Given the description of an element on the screen output the (x, y) to click on. 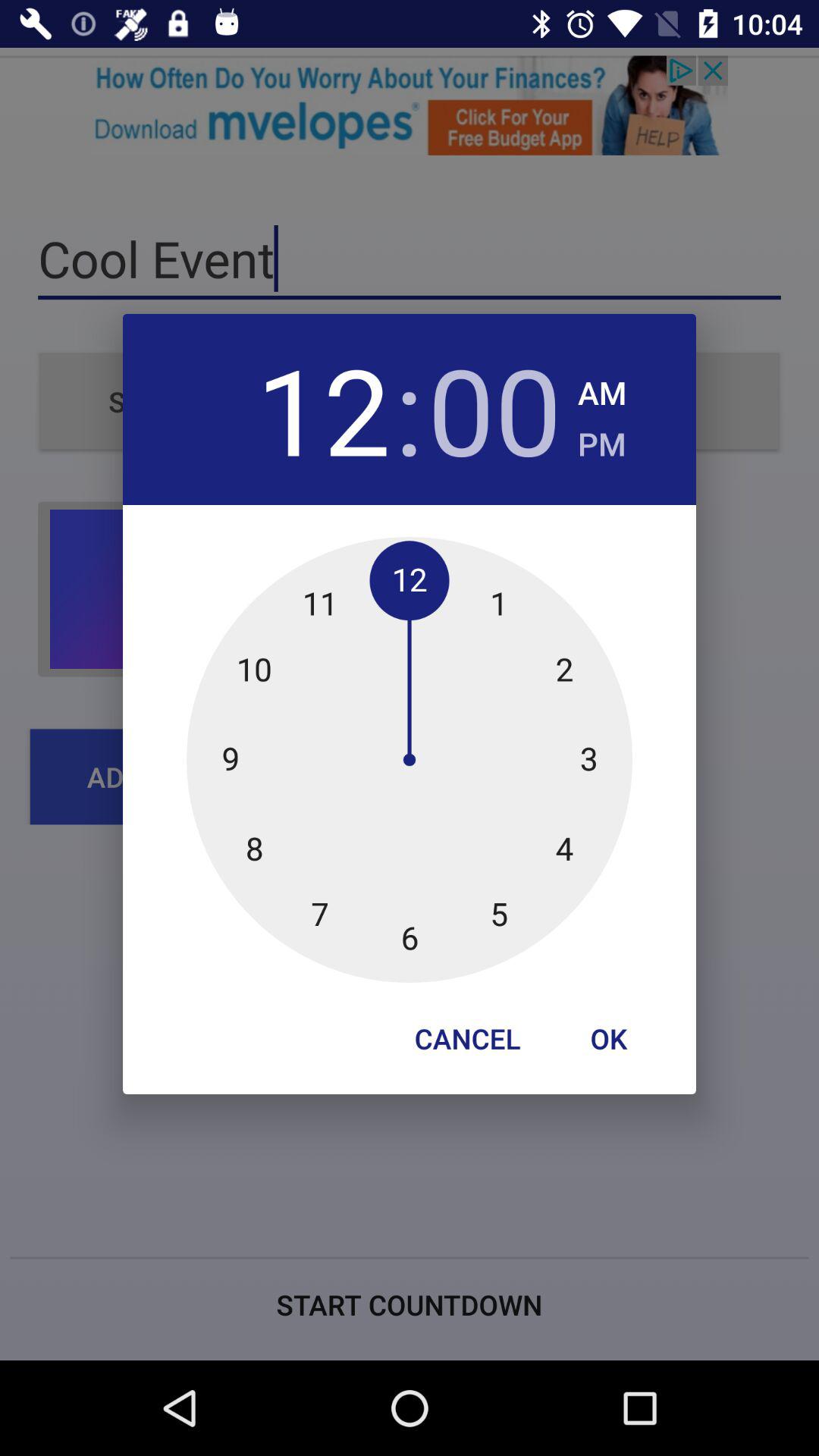
select the item to the right of the 00 app (601, 388)
